Given the description of an element on the screen output the (x, y) to click on. 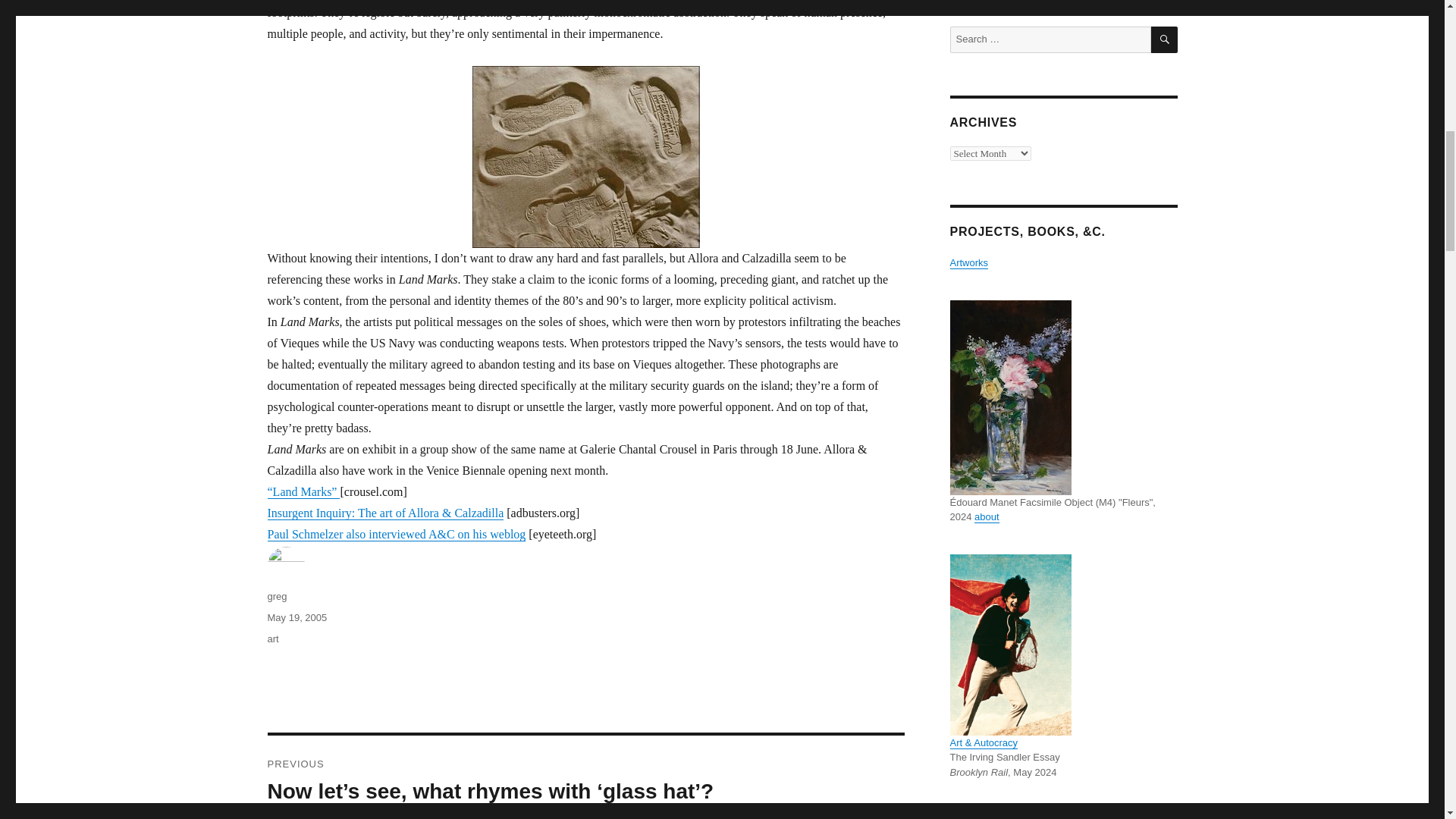
SEARCH (1164, 39)
art (272, 638)
May 19, 2005 (296, 617)
about (986, 516)
greg (276, 595)
Artworks (968, 262)
